Given the description of an element on the screen output the (x, y) to click on. 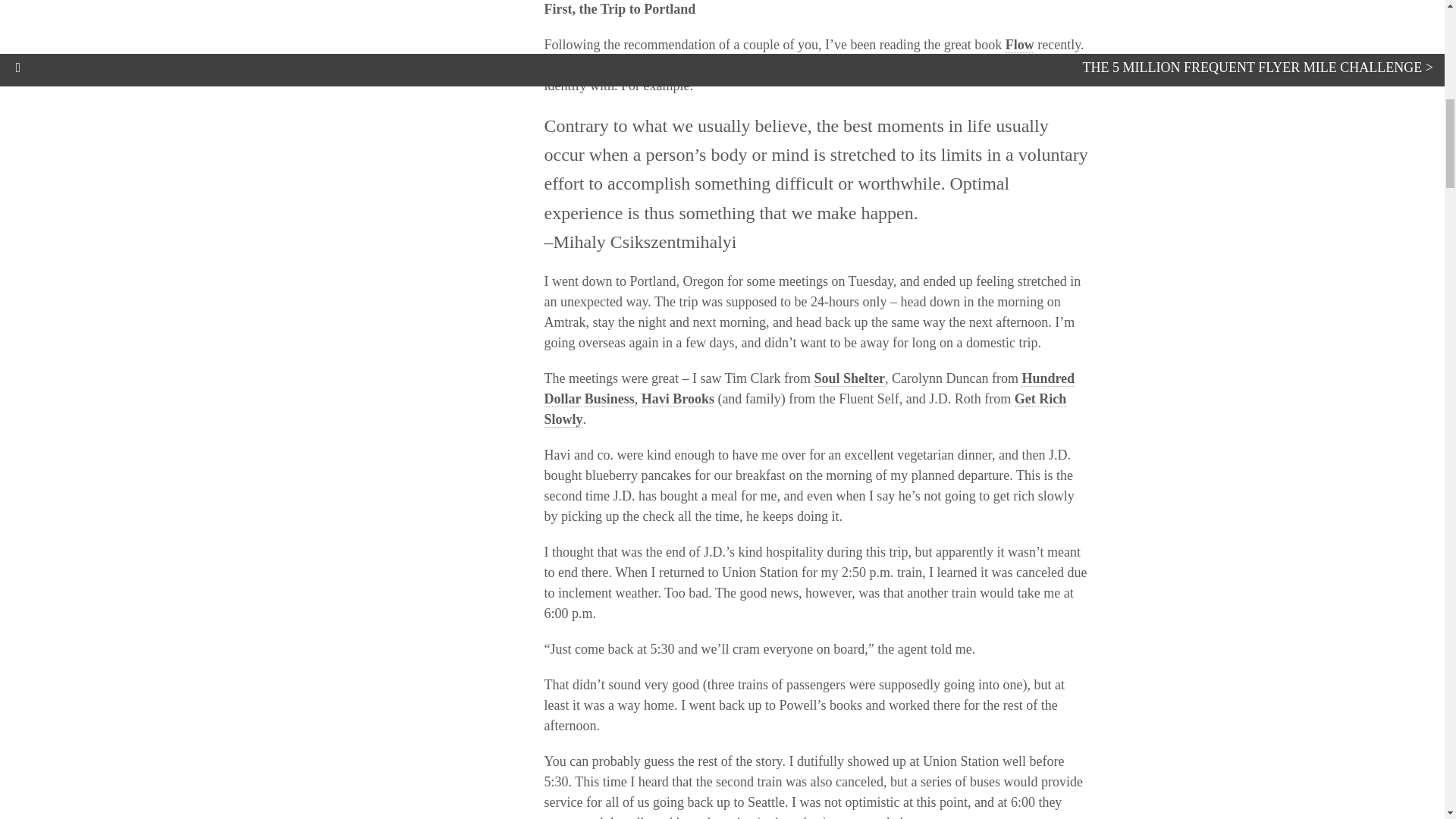
Get Rich Slowly (805, 409)
Soul Shelter (849, 378)
Flow (1019, 44)
Hundred Dollar Business (809, 389)
Havi Brooks (678, 399)
